Given the description of an element on the screen output the (x, y) to click on. 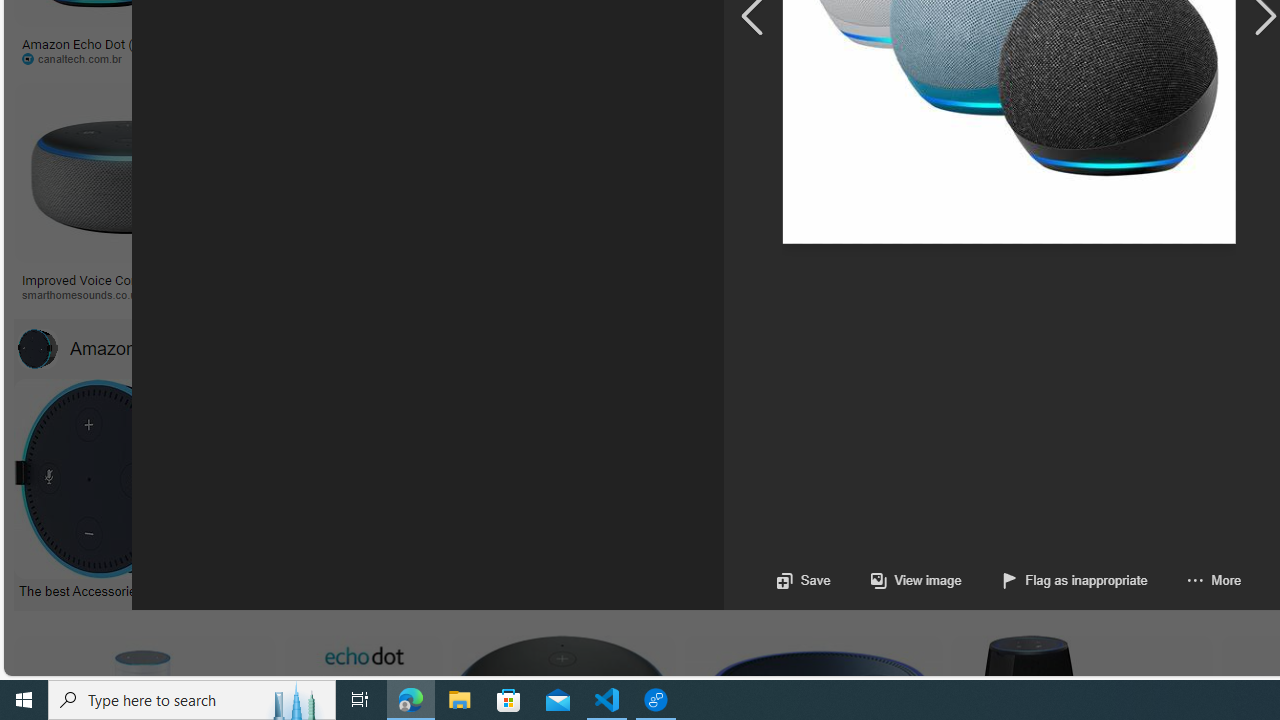
mediamarkt.es (1124, 294)
pricehistoryapp.com (486, 57)
Improved Voice Control with Sonos & Alexa Echo devices (128, 286)
Best Amazon Echo Accessories - Tech Advisor (534, 589)
Amazon Echo Dot Accessories (167, 348)
buynow.com.ec (1058, 57)
